Given the description of an element on the screen output the (x, y) to click on. 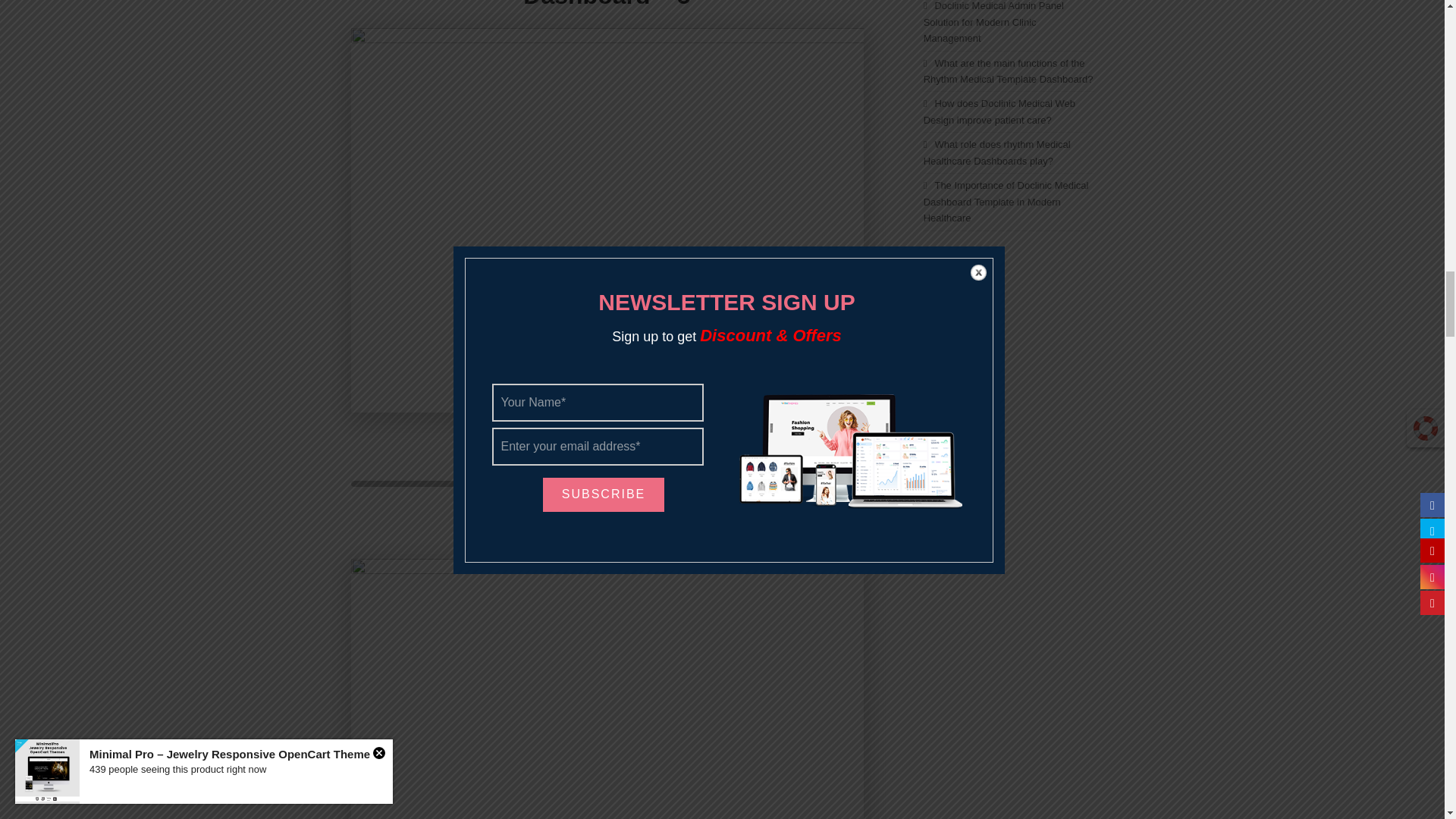
DEMO (686, 448)
